Given the description of an element on the screen output the (x, y) to click on. 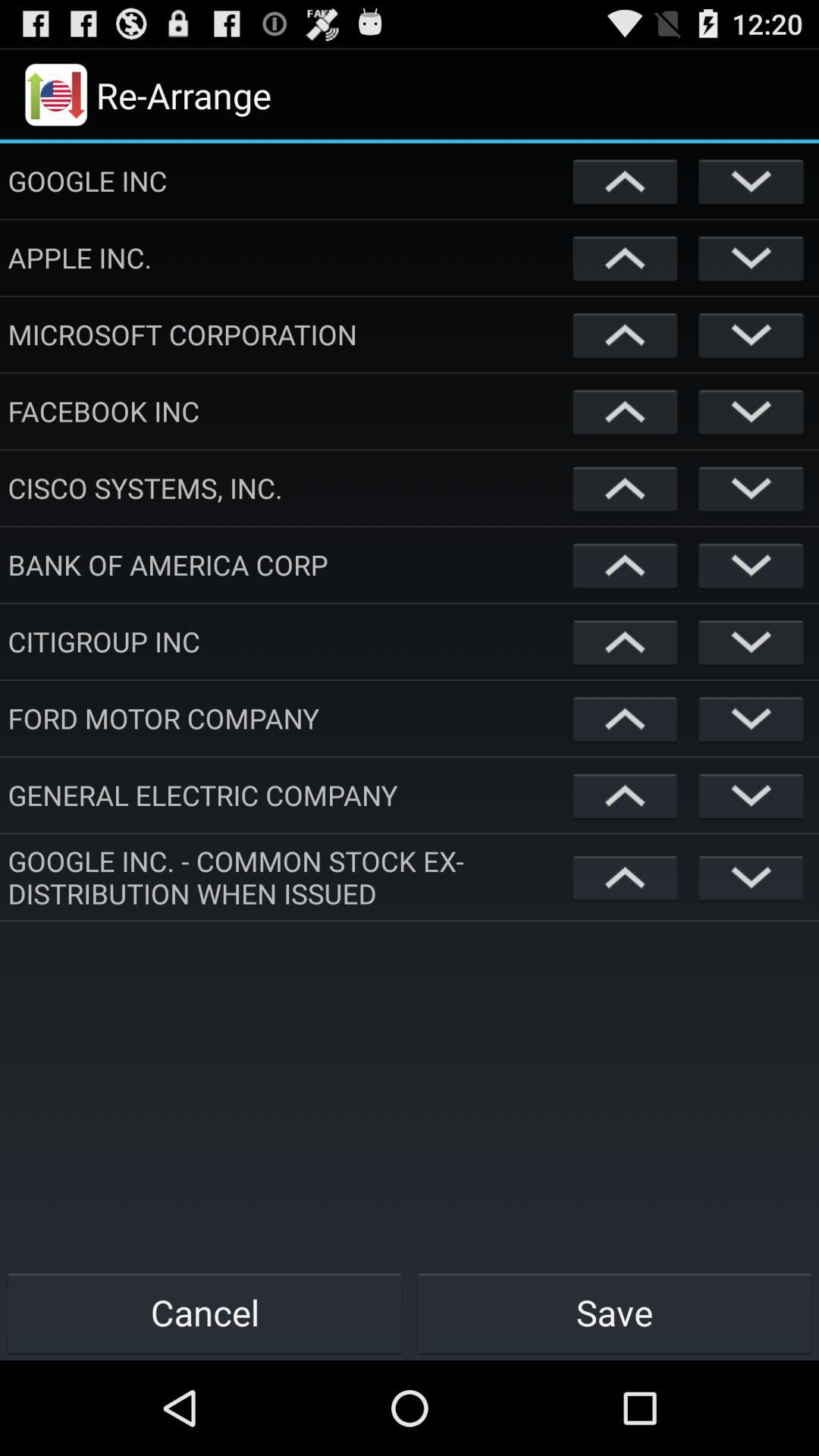
move up button (624, 411)
